Given the description of an element on the screen output the (x, y) to click on. 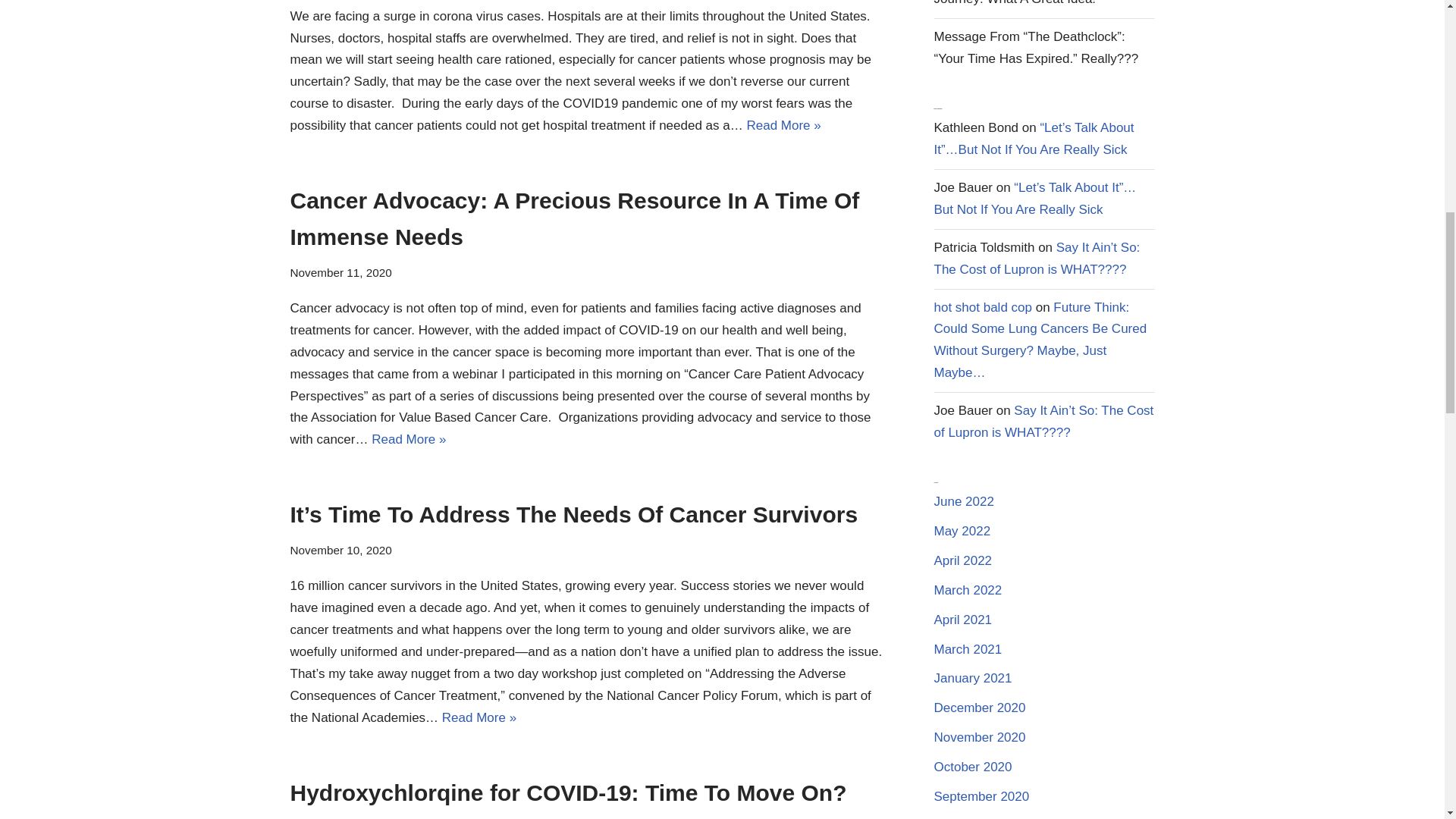
Hydroxychlorqine for COVID-19: Time To Move On? (567, 791)
